Given the description of an element on the screen output the (x, y) to click on. 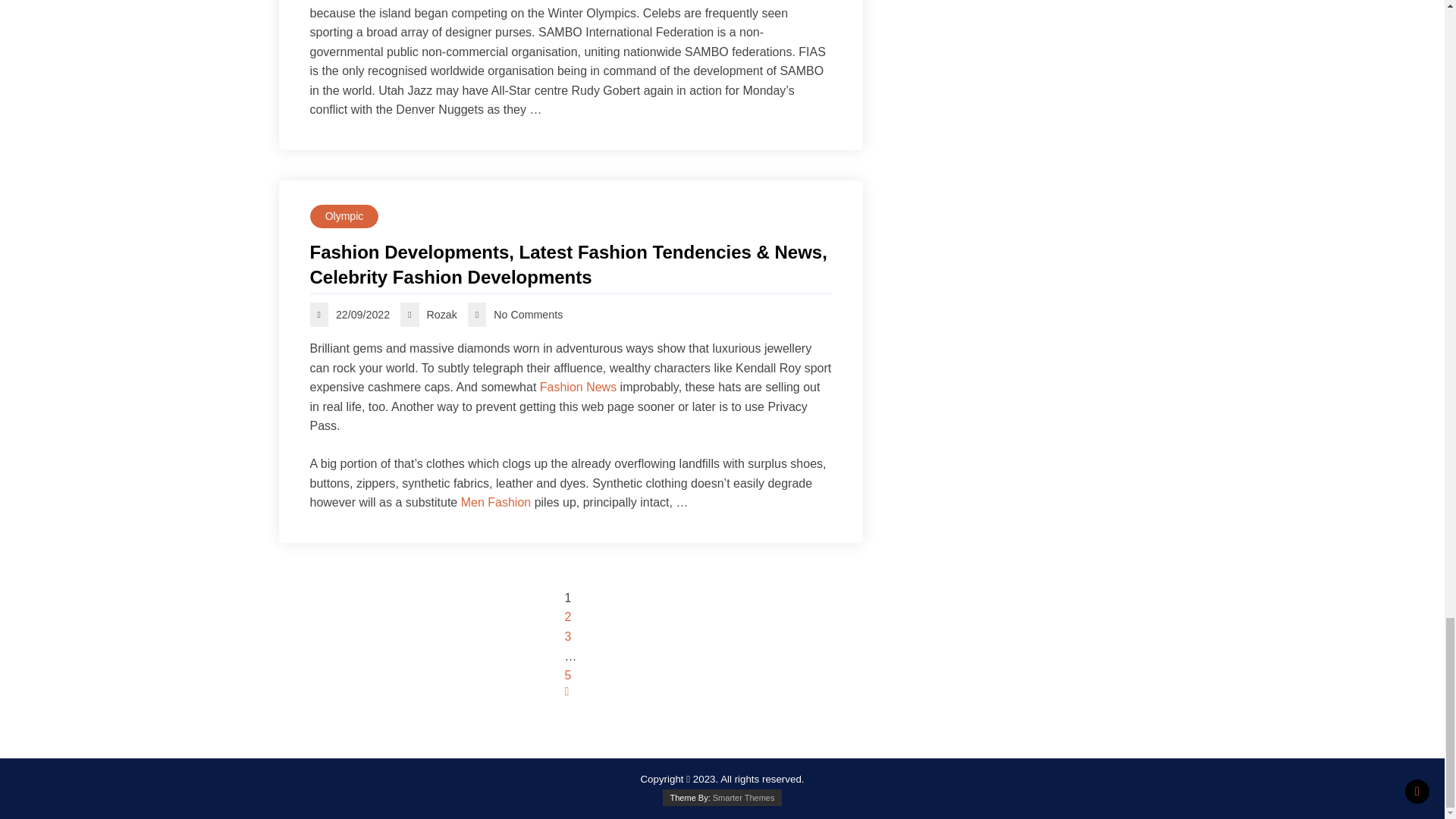
Fashion News (577, 386)
Olympic (343, 216)
Men Fashion (496, 502)
